Given the description of an element on the screen output the (x, y) to click on. 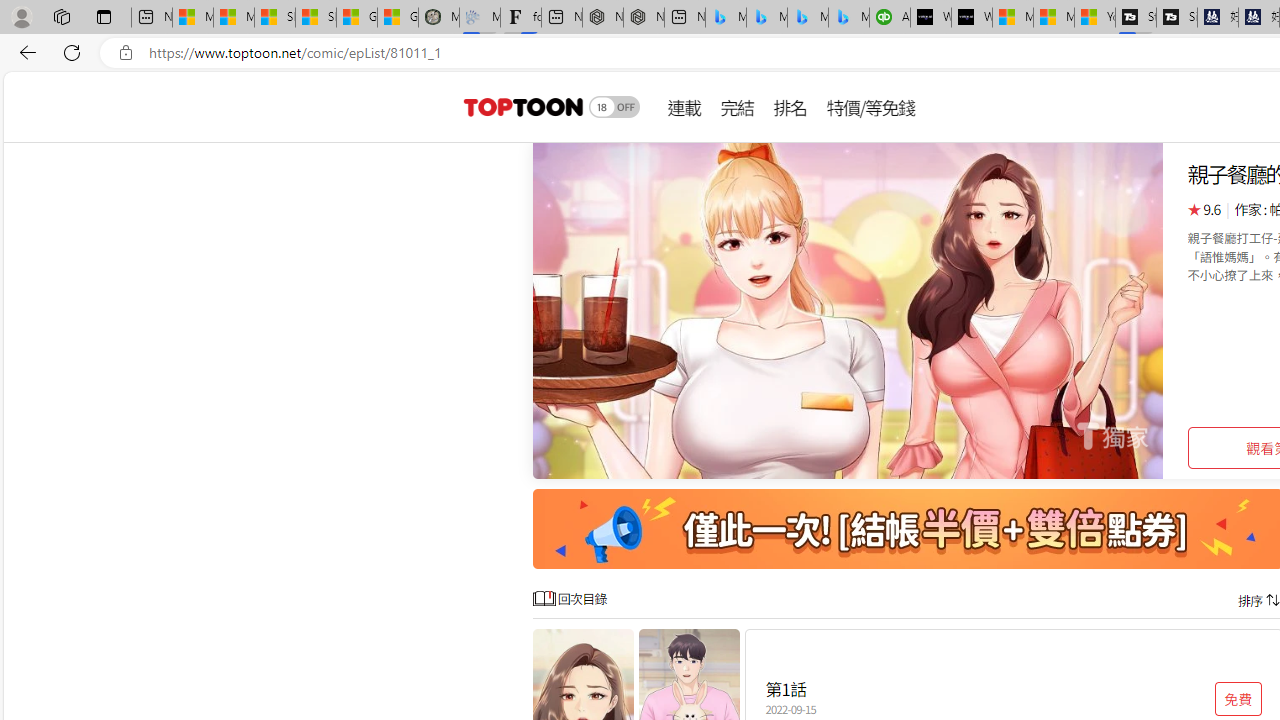
Class:  switch_18mode actionAdultBtn (614, 106)
header (519, 106)
Microsoft Bing Travel - Stays in Bangkok, Bangkok, Thailand (767, 17)
